Given the description of an element on the screen output the (x, y) to click on. 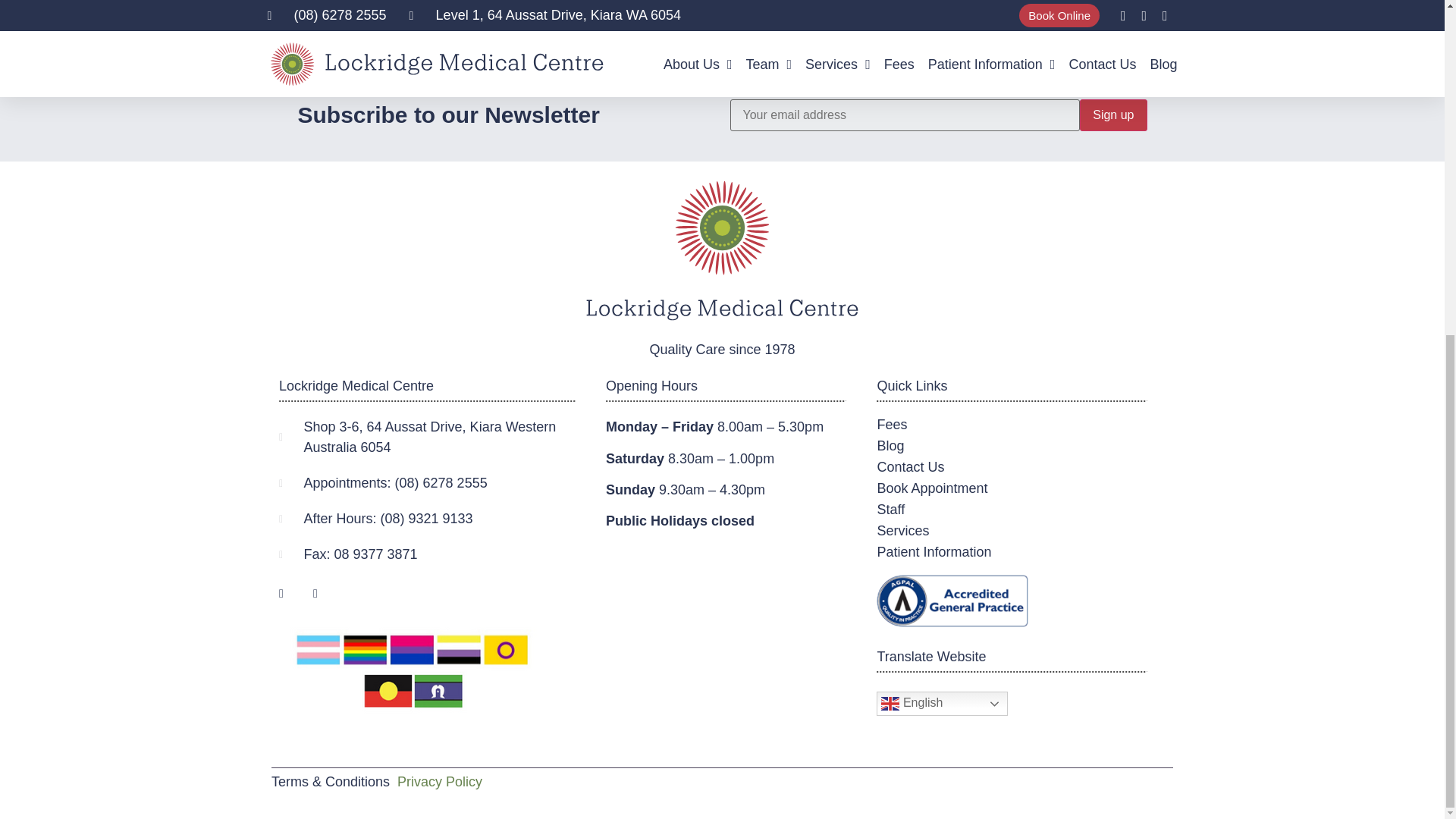
Accredited general practice (951, 600)
Sign up (1113, 115)
